Given the description of an element on the screen output the (x, y) to click on. 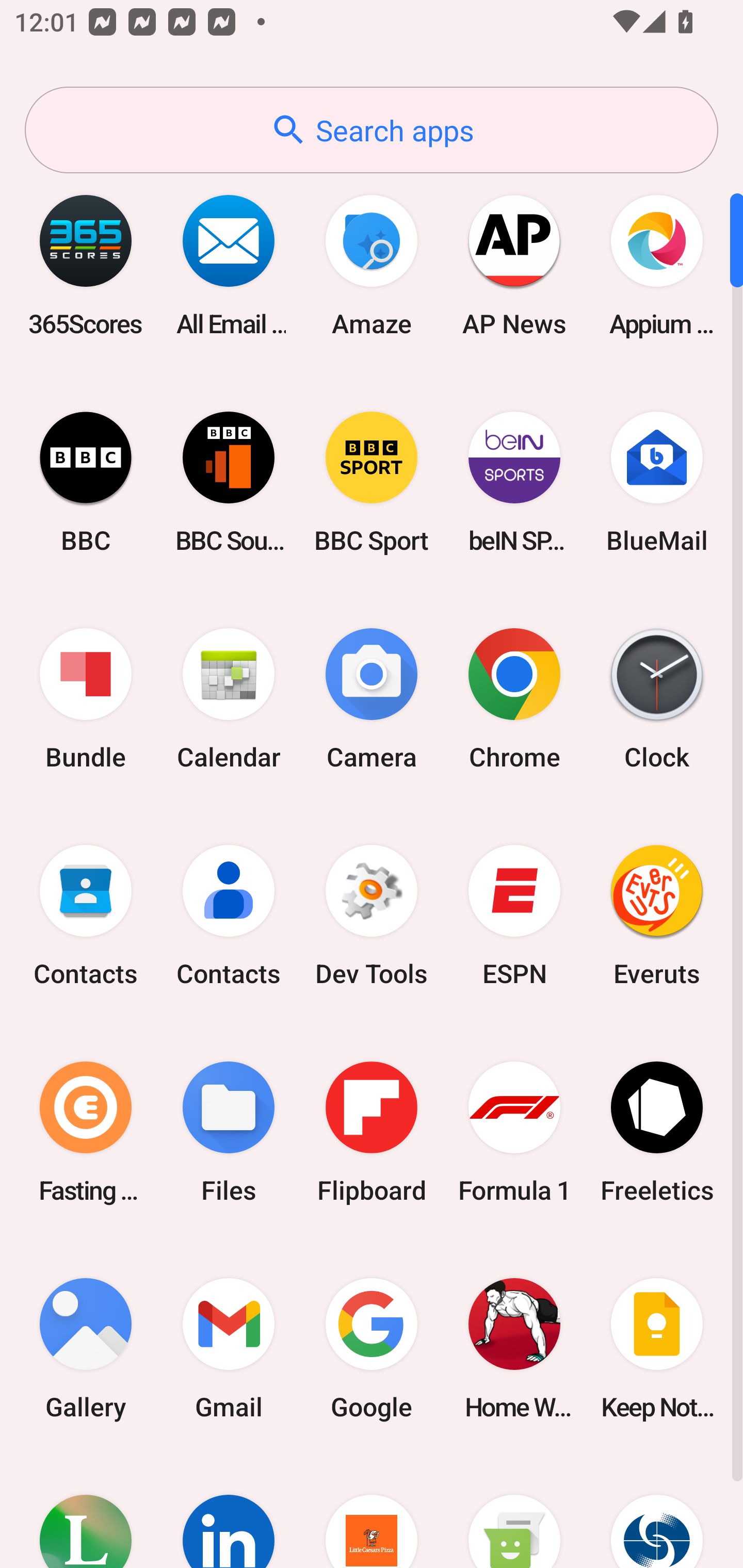
  Search apps (371, 130)
365Scores (85, 264)
All Email Connect (228, 264)
Amaze (371, 264)
AP News (514, 264)
Appium Settings (656, 264)
BBC (85, 482)
BBC Sounds (228, 482)
BBC Sport (371, 482)
beIN SPORTS (514, 482)
BlueMail (656, 482)
Bundle (85, 699)
Calendar (228, 699)
Camera (371, 699)
Chrome (514, 699)
Clock (656, 699)
Contacts (85, 915)
Contacts (228, 915)
Dev Tools (371, 915)
ESPN (514, 915)
Everuts (656, 915)
Fasting Coach (85, 1131)
Files (228, 1131)
Flipboard (371, 1131)
Formula 1 (514, 1131)
Freeletics (656, 1131)
Gallery (85, 1348)
Gmail (228, 1348)
Google (371, 1348)
Home Workout (514, 1348)
Keep Notes (656, 1348)
Lifesum (85, 1512)
LinkedIn (228, 1512)
Little Caesars Pizza (371, 1512)
Messaging (514, 1512)
MyObservatory (656, 1512)
